Given the description of an element on the screen output the (x, y) to click on. 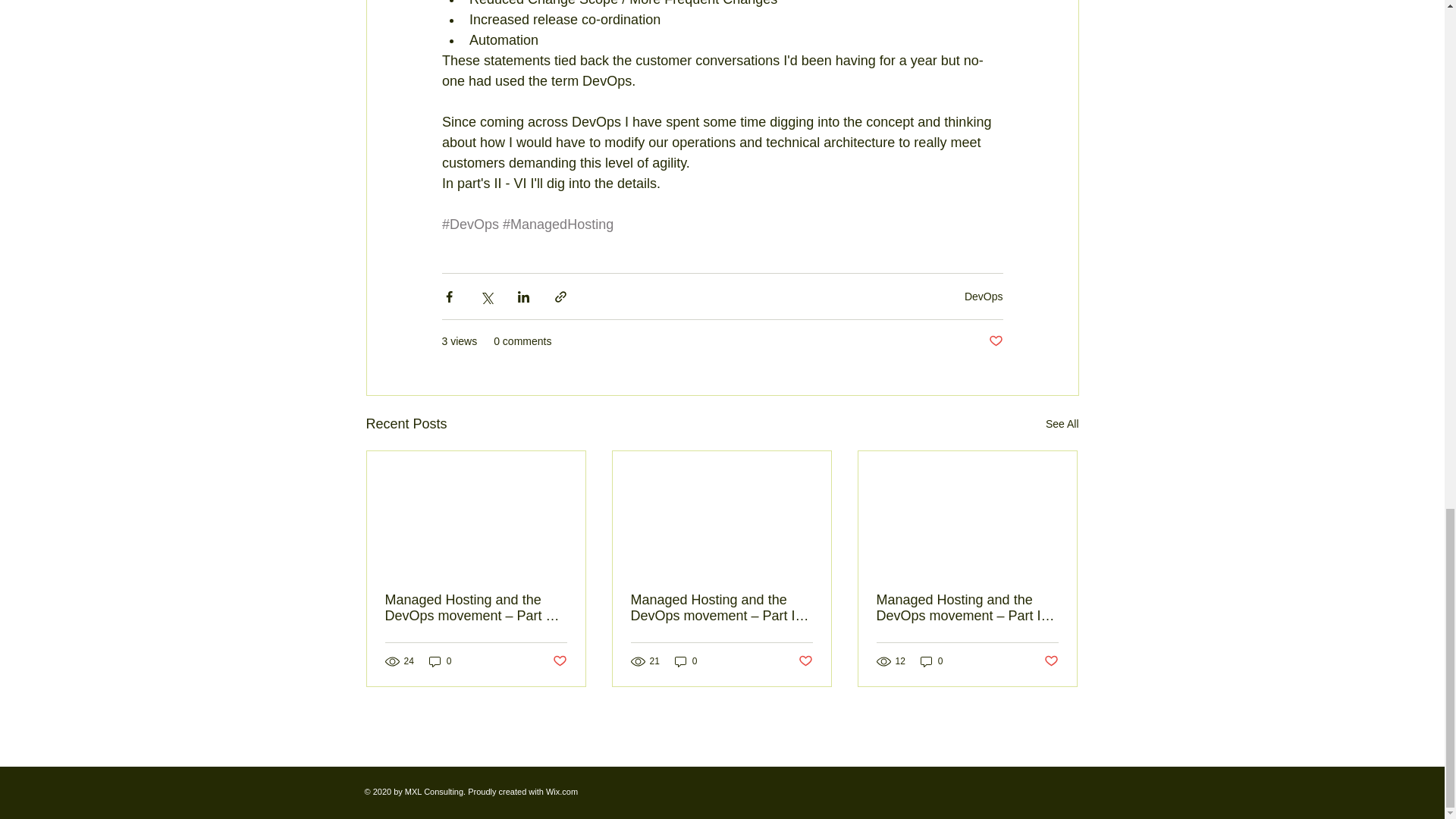
Post not marked as liked (995, 341)
0 (440, 660)
See All (1061, 423)
DevOps (983, 295)
Post not marked as liked (558, 661)
